Given the description of an element on the screen output the (x, y) to click on. 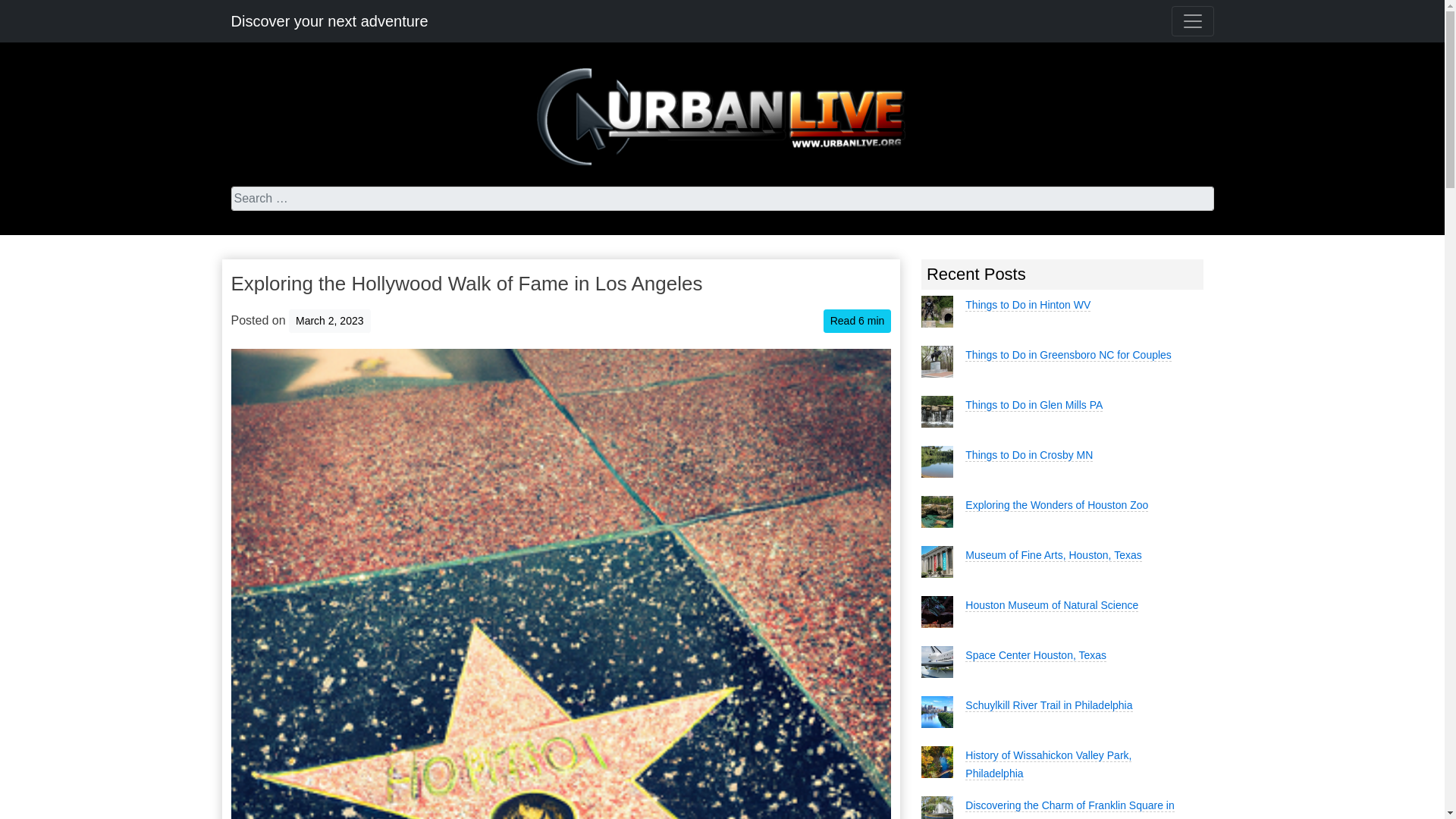
Discover your next adventure (329, 20)
History of Wissahickon Valley Park, Philadelphia (1048, 764)
Schuylkill River Trail in Philadelphia (1048, 705)
Museum of Fine Arts, Houston, Texas (1053, 554)
Urban Live - Discover your next adventure (721, 117)
Houston Museum of Natural Science (1051, 604)
Exploring the Wonders of Houston Zoo (1056, 504)
Things to Do in Greensboro NC for Couples (1068, 354)
Things to Do in Hinton WV (1027, 305)
Things to Do in Glen Mills PA (1033, 404)
Things to Do in Crosby MN (1029, 454)
March 2, 2023 (329, 319)
Discovering the Charm of Franklin Square in Philadelphia (1069, 809)
Space Center Houston, Texas (1035, 655)
